Given the description of an element on the screen output the (x, y) to click on. 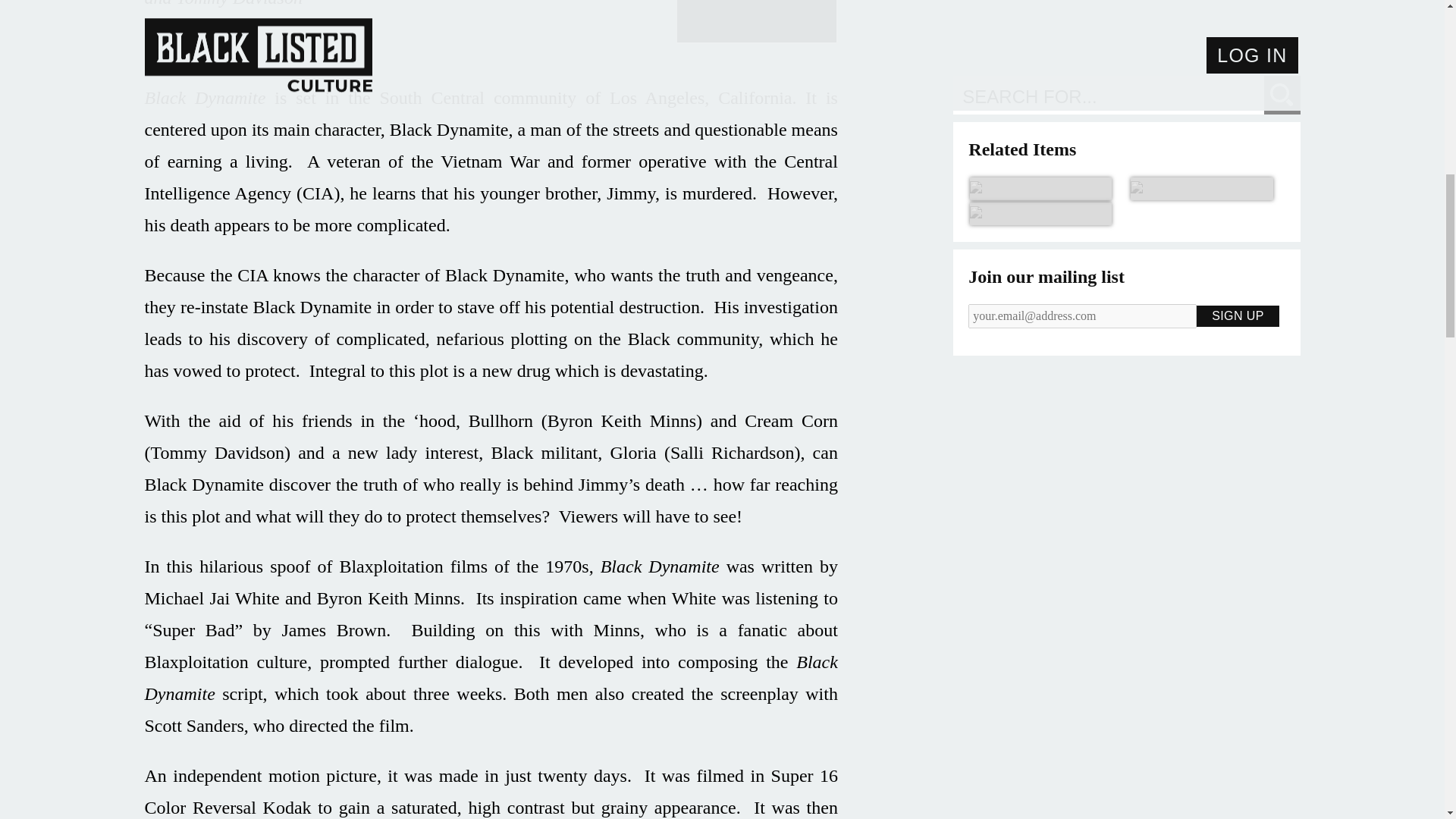
Sign Up (1237, 190)
Sign Up (1237, 190)
